Given the description of an element on the screen output the (x, y) to click on. 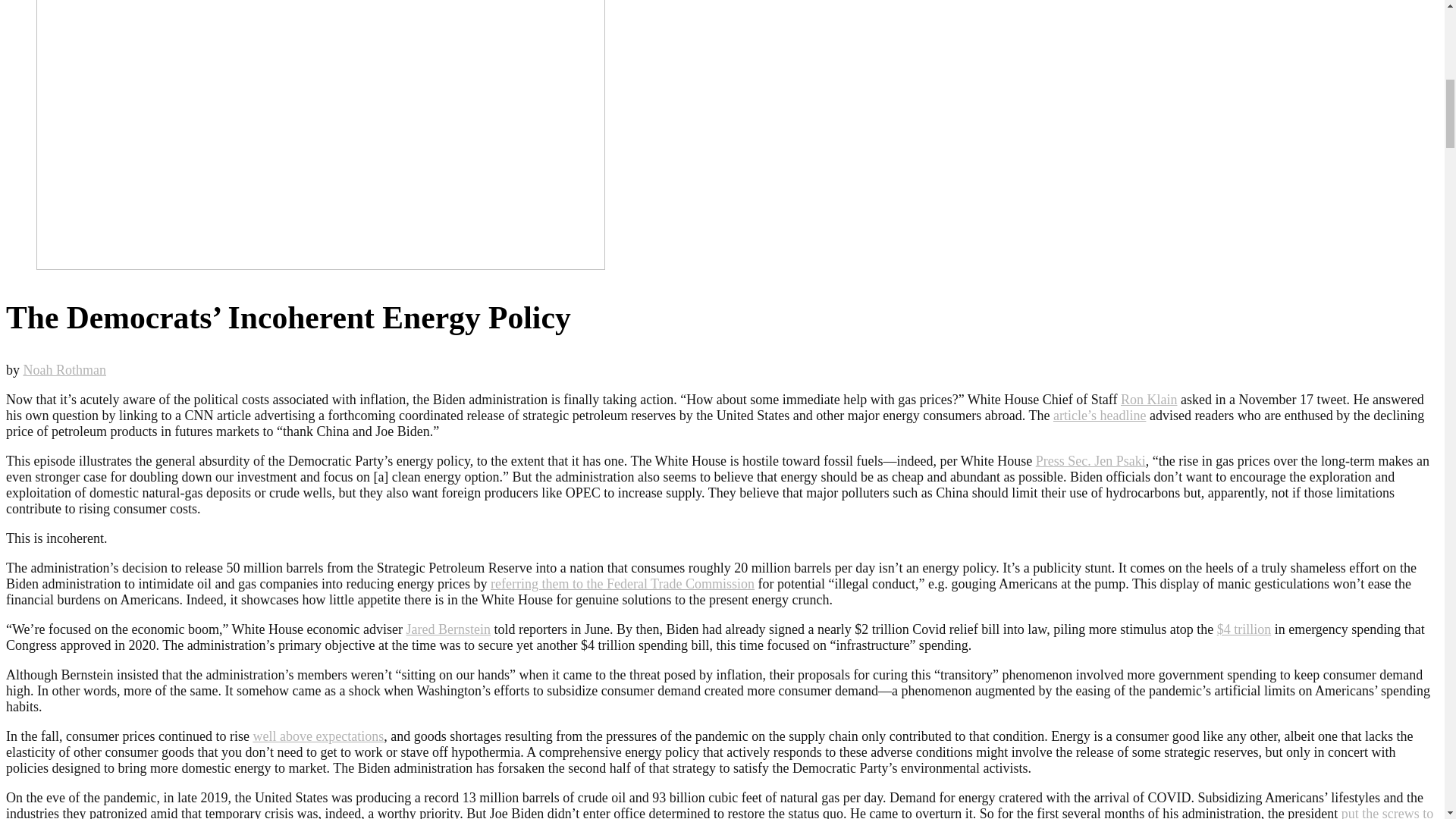
Posts by Noah Rothman (64, 369)
well above expectations (317, 735)
Jared Bernstein (448, 629)
Noah Rothman (64, 369)
referring them to the Federal Trade Commission (622, 583)
Press Sec. Jen Psaki (1090, 460)
Ron Klain (1149, 399)
